Given the description of an element on the screen output the (x, y) to click on. 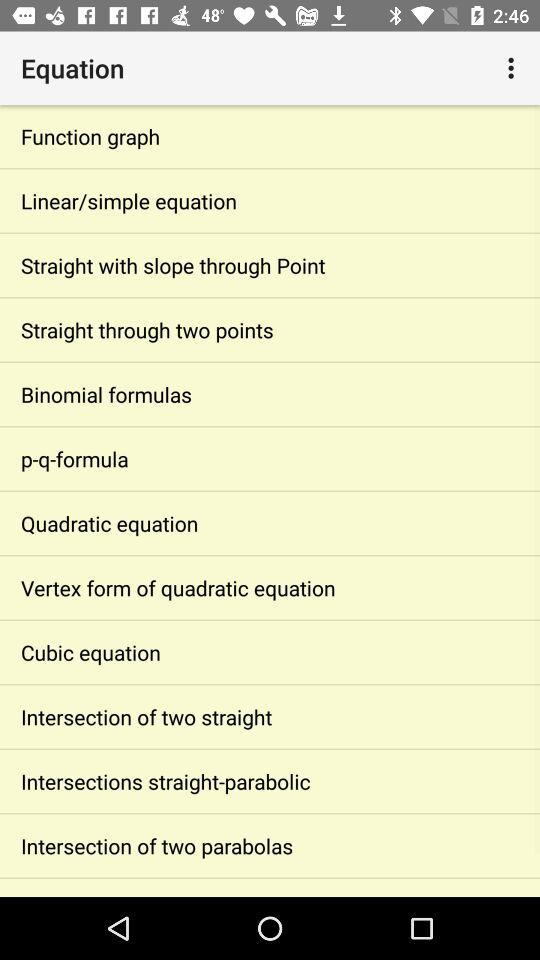
choose the linear/simple equation item (270, 200)
